Given the description of an element on the screen output the (x, y) to click on. 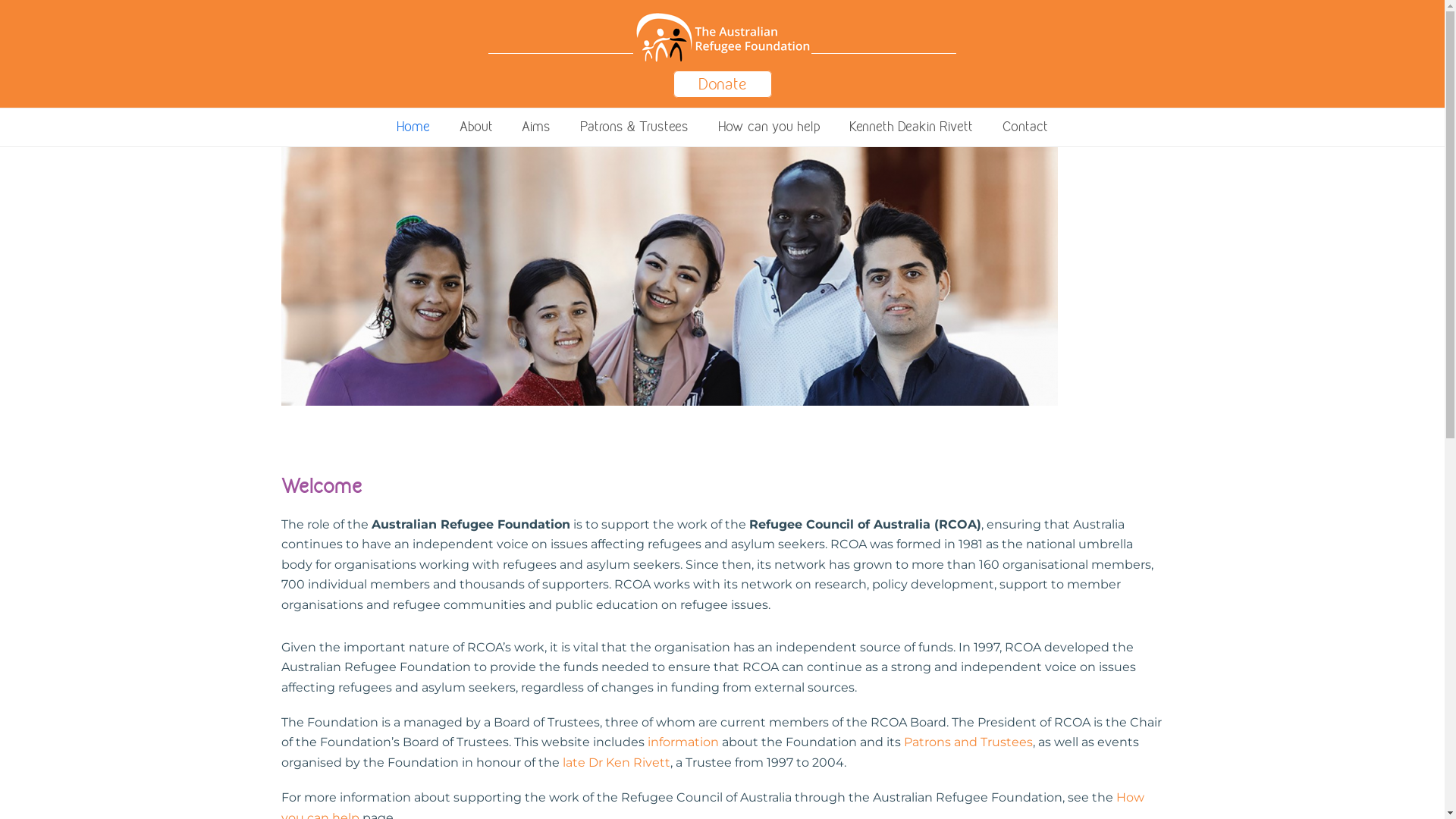
Contact Element type: text (1024, 127)
Home Element type: text (412, 127)
Kenneth Deakin Rivett Element type: text (910, 127)
Aims Element type: text (536, 127)
Patrons & Trustees Element type: text (634, 127)
How can you help Element type: text (769, 127)
late Dr Ken Rivett Element type: text (616, 762)
Donate Element type: text (722, 83)
Patrons and Trustees Element type: text (967, 741)
information Element type: text (682, 741)
About Element type: text (475, 127)
